Given the description of an element on the screen output the (x, y) to click on. 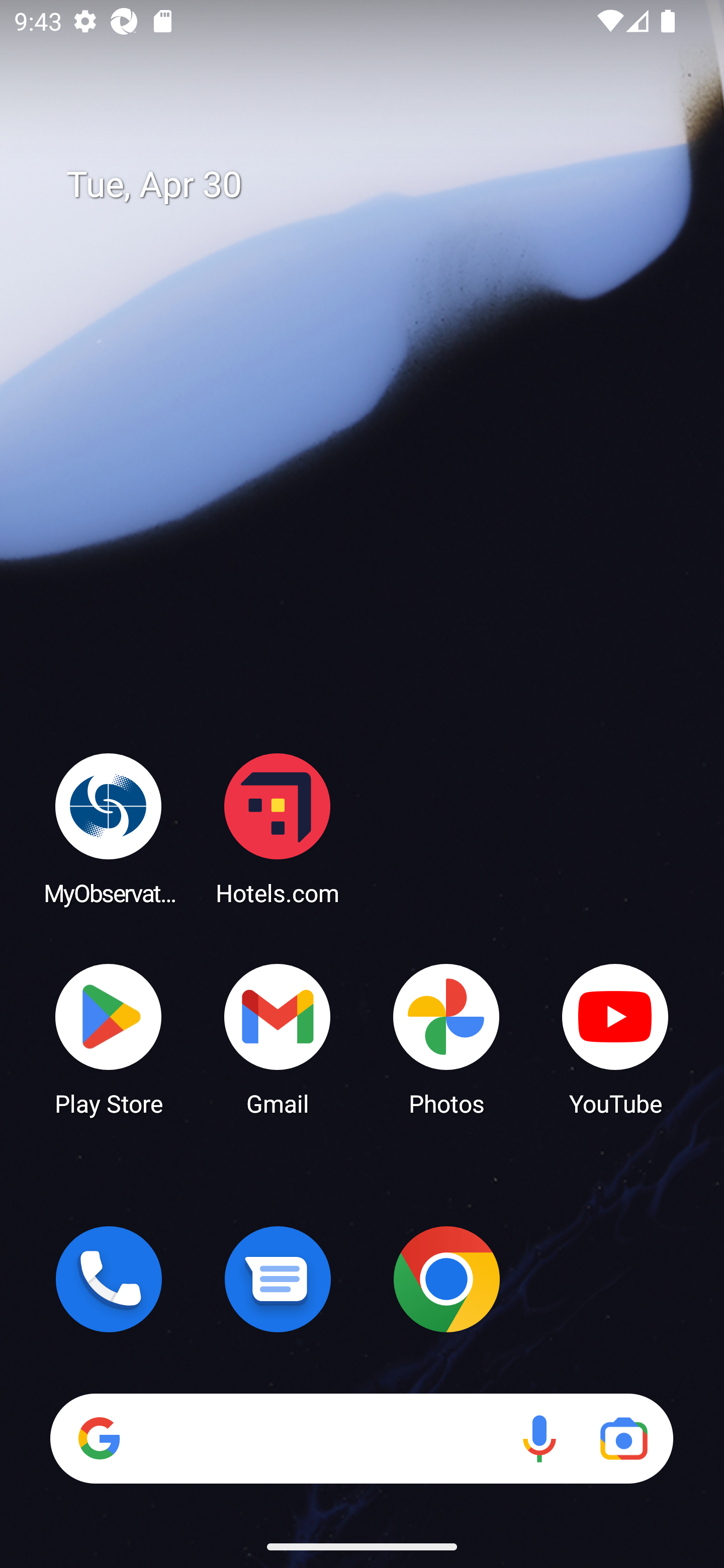
Tue, Apr 30 (375, 184)
MyObservatory (108, 828)
Hotels.com (277, 828)
Play Store (108, 1038)
Gmail (277, 1038)
Photos (445, 1038)
YouTube (615, 1038)
Phone (108, 1279)
Messages (277, 1279)
Chrome (446, 1279)
Voice search (539, 1438)
Google Lens (623, 1438)
